Given the description of an element on the screen output the (x, y) to click on. 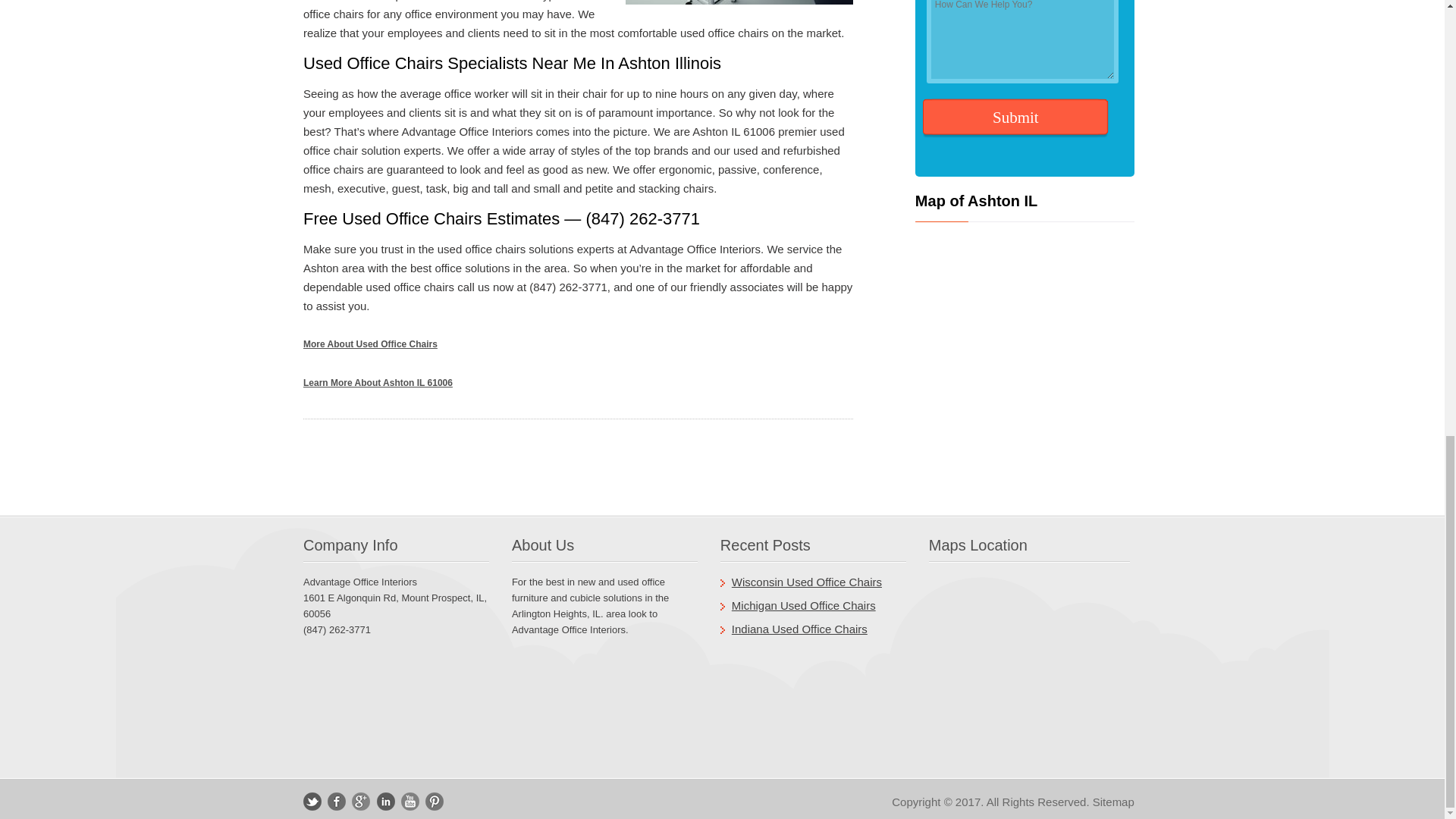
Sitemap (1113, 801)
More About Used Office Chairs (370, 344)
Twitter (311, 801)
Google Plus (360, 801)
YouTube (410, 801)
Learn More About Ashton IL 61006 (377, 382)
Facebook (336, 801)
Submit (1015, 118)
Indiana Used Office Chairs (799, 628)
Michigan Used Office Chairs (804, 604)
Pinterest (434, 801)
Wisconsin Used Office Chairs (807, 581)
Submit (1015, 118)
LinkedIn (385, 801)
